Given the description of an element on the screen output the (x, y) to click on. 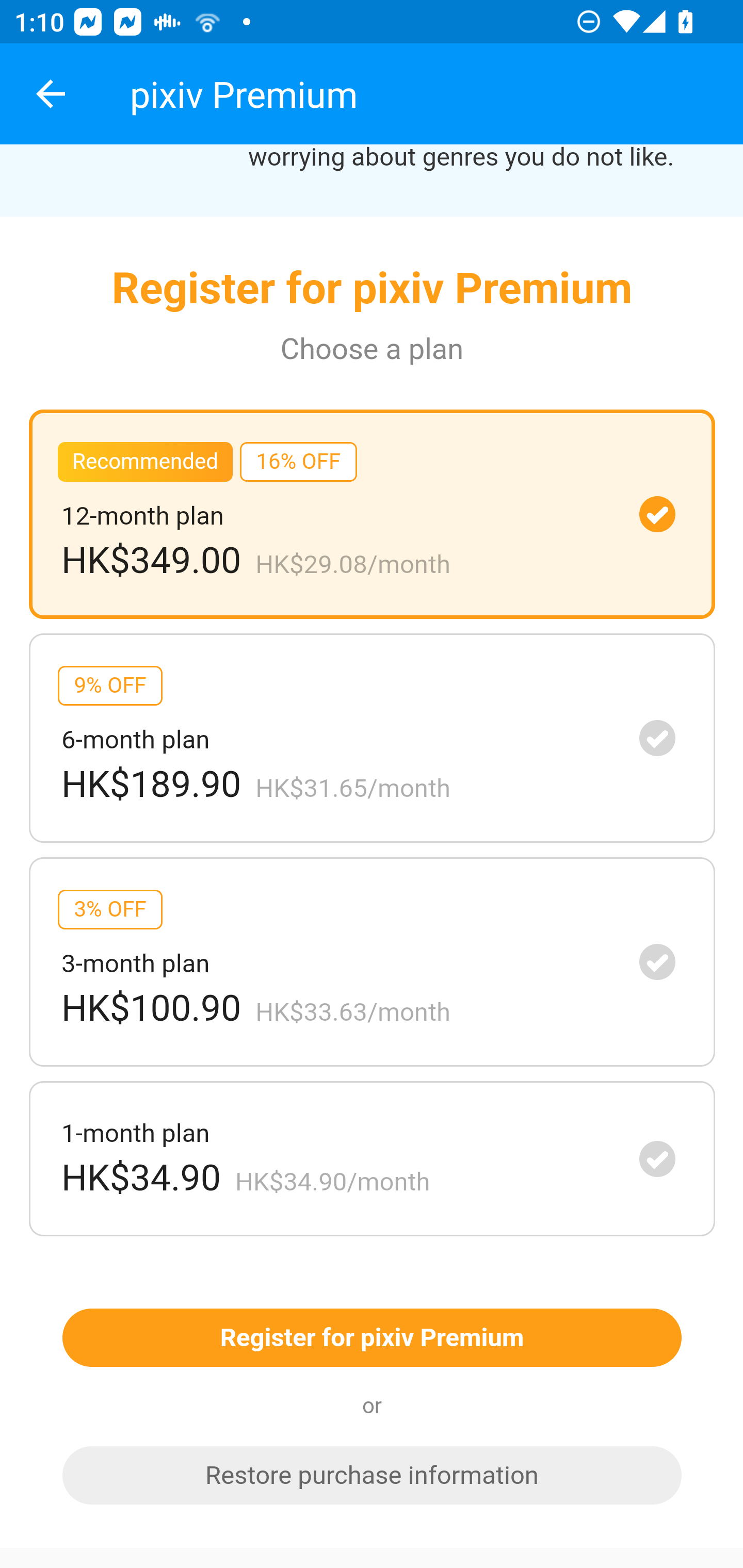
Navigate up (50, 93)
Register for pixiv Premium (371, 1338)
Restore purchase information (371, 1475)
